Given the description of an element on the screen output the (x, y) to click on. 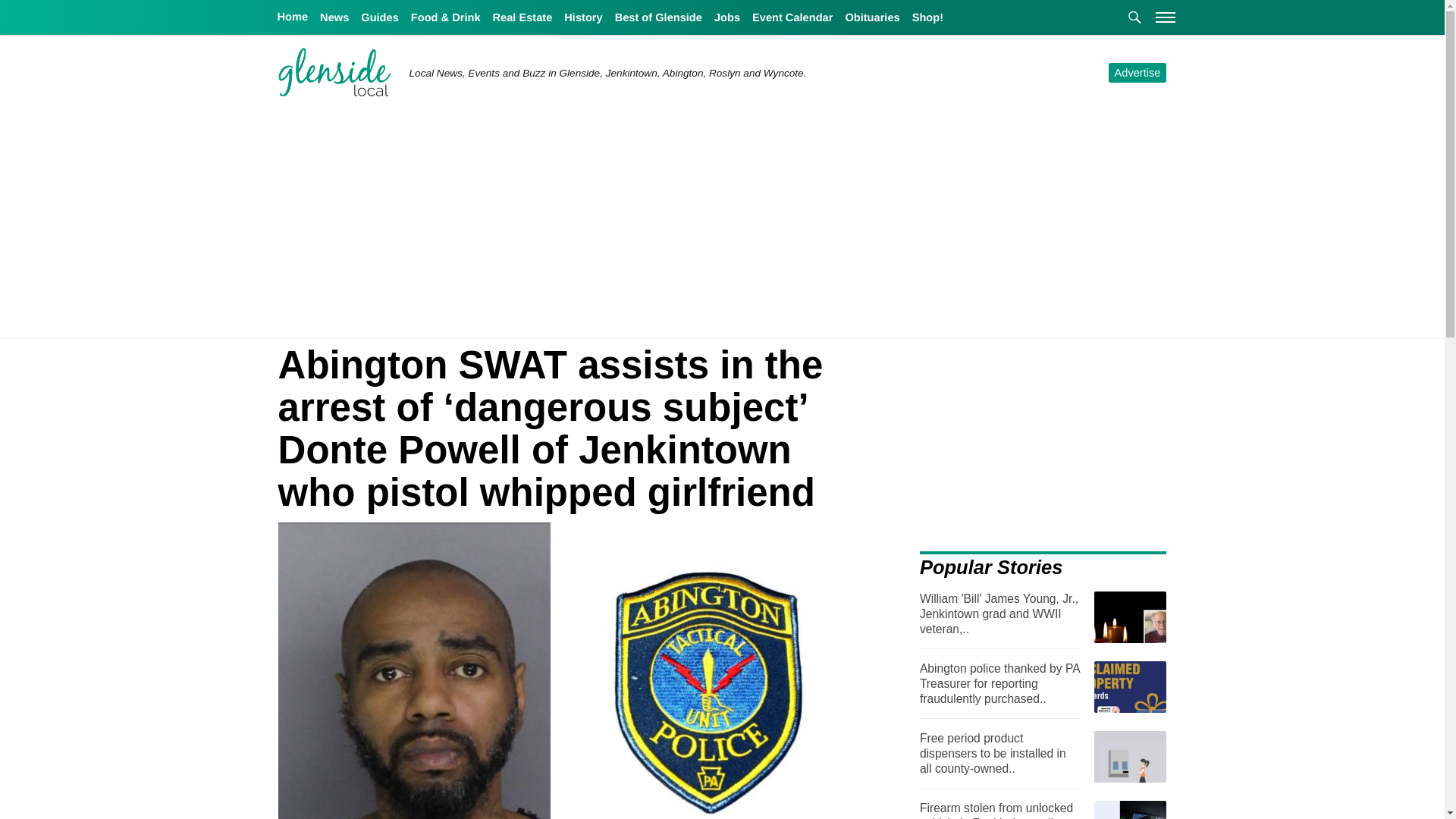
News (334, 18)
Home (292, 23)
Advertisement (1046, 450)
